Given the description of an element on the screen output the (x, y) to click on. 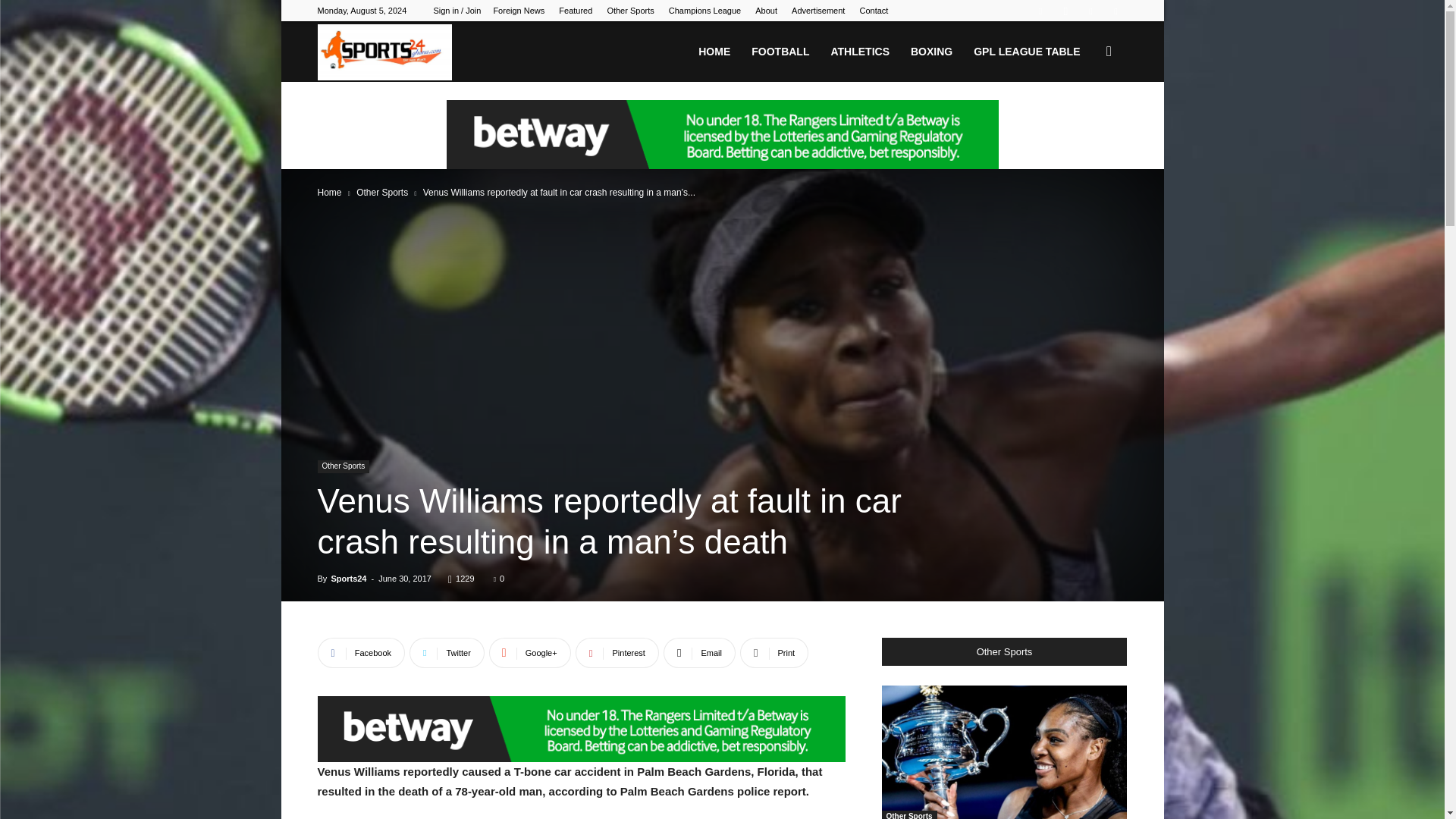
Facebook (1040, 10)
Other Sports (630, 10)
Advertisement (818, 10)
Champions League (704, 10)
Foreign News (518, 10)
Sports 24 Ghana (384, 52)
FOOTBALL (780, 51)
Featured (575, 10)
Instagram (1065, 10)
BOXING (930, 51)
ATHLETICS (859, 51)
Twitter (1114, 10)
Search (1085, 124)
View all posts in Other Sports (381, 192)
Sports 24 Ghana (384, 51)
